Given the description of an element on the screen output the (x, y) to click on. 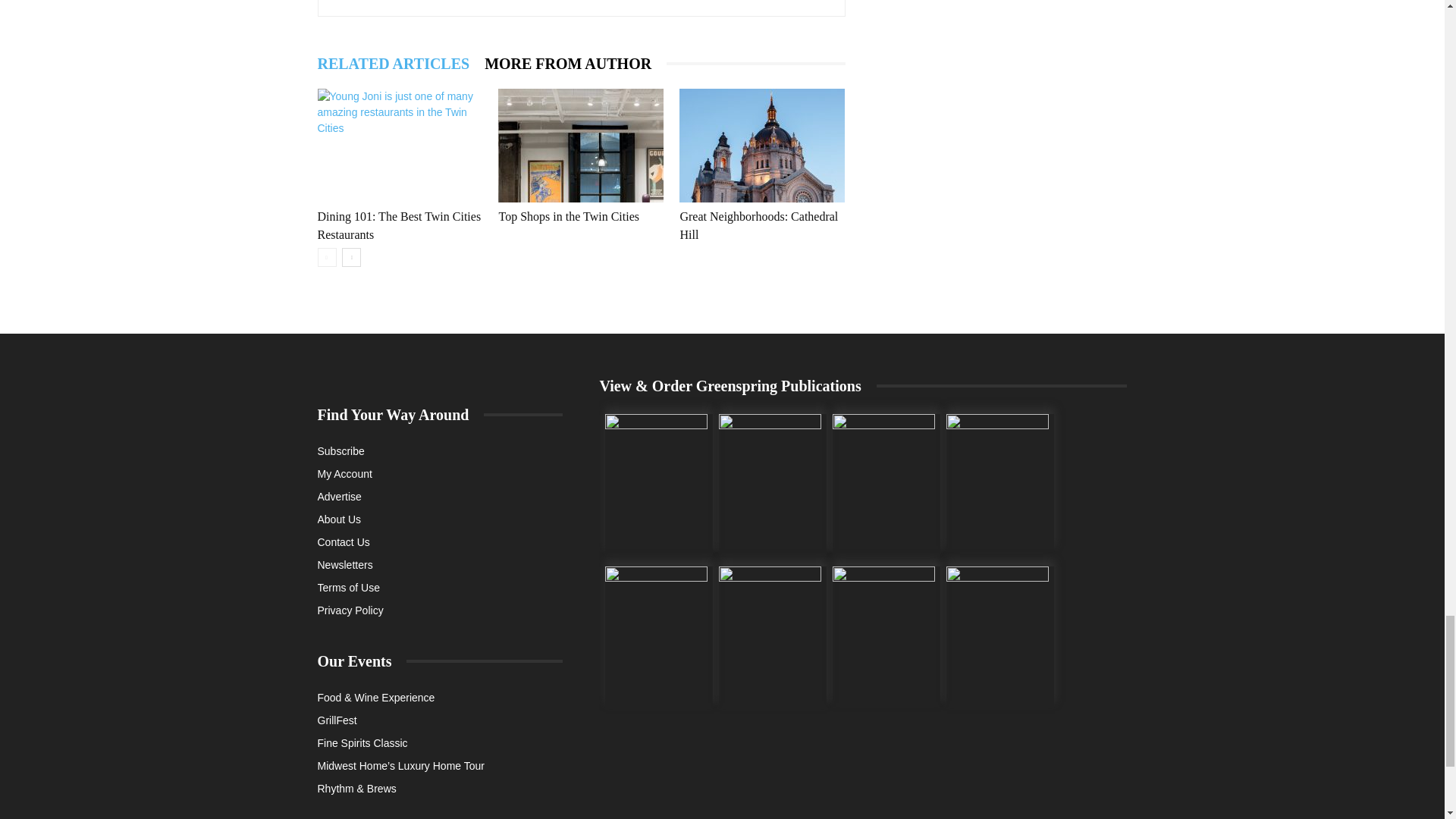
Top Shops in the Twin Cities (568, 215)
Top Shops in the Twin Cities (580, 145)
Dining 101: The Best Twin Cities Restaurants (398, 224)
Dining 101: The Best Twin Cities Restaurants (399, 145)
